Given the description of an element on the screen output the (x, y) to click on. 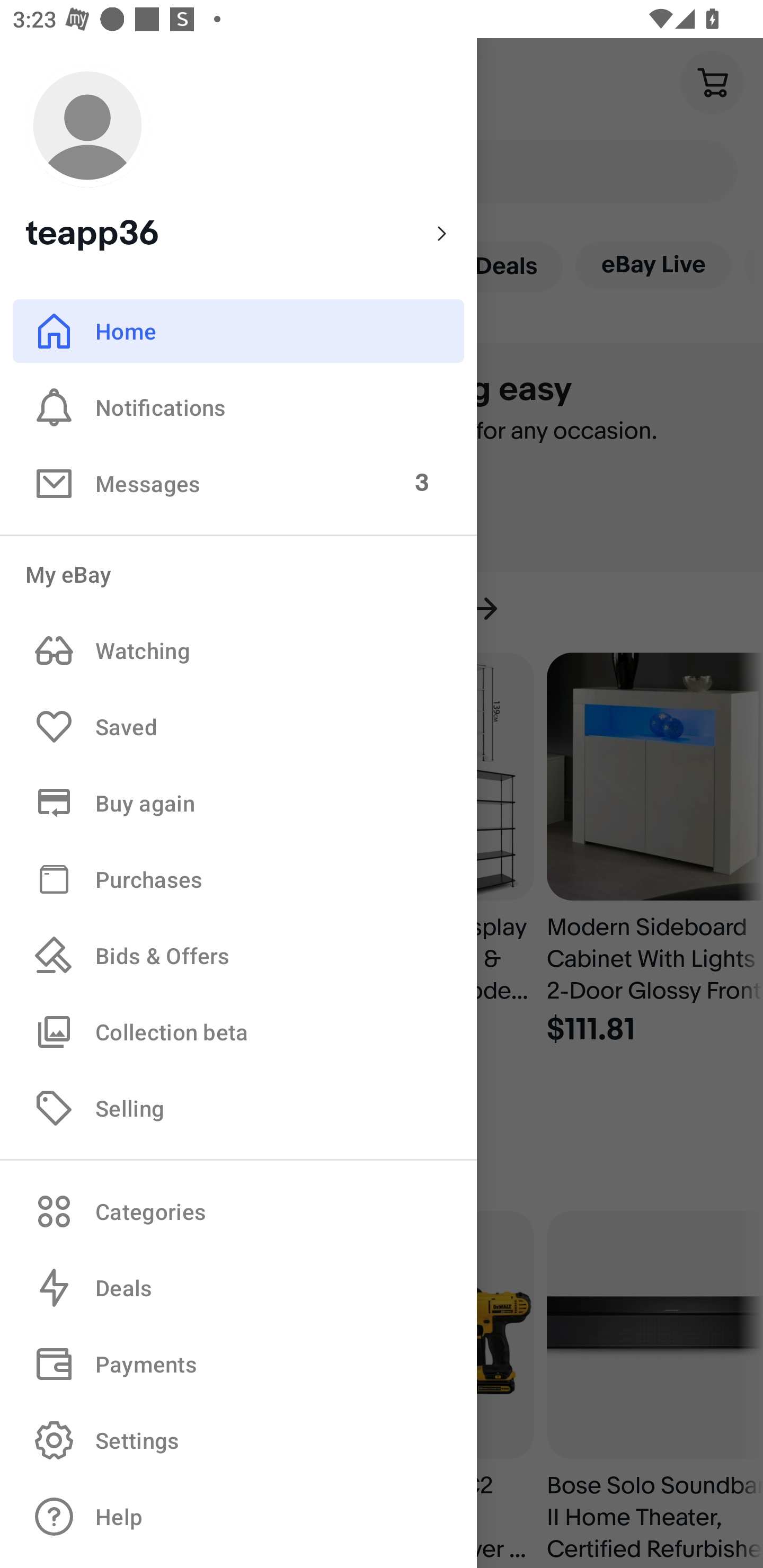
teapp36 (238, 158)
Home (238, 330)
Notifications (238, 406)
Messages 3 (238, 483)
Watching (238, 650)
Saved (238, 726)
Buy again (238, 802)
Purchases (238, 878)
Bids & Offers (238, 955)
Collection beta (238, 1031)
Selling (238, 1107)
Categories (238, 1210)
Deals (238, 1287)
Payments (238, 1363)
Settings (238, 1439)
Help (238, 1516)
